Given the description of an element on the screen output the (x, y) to click on. 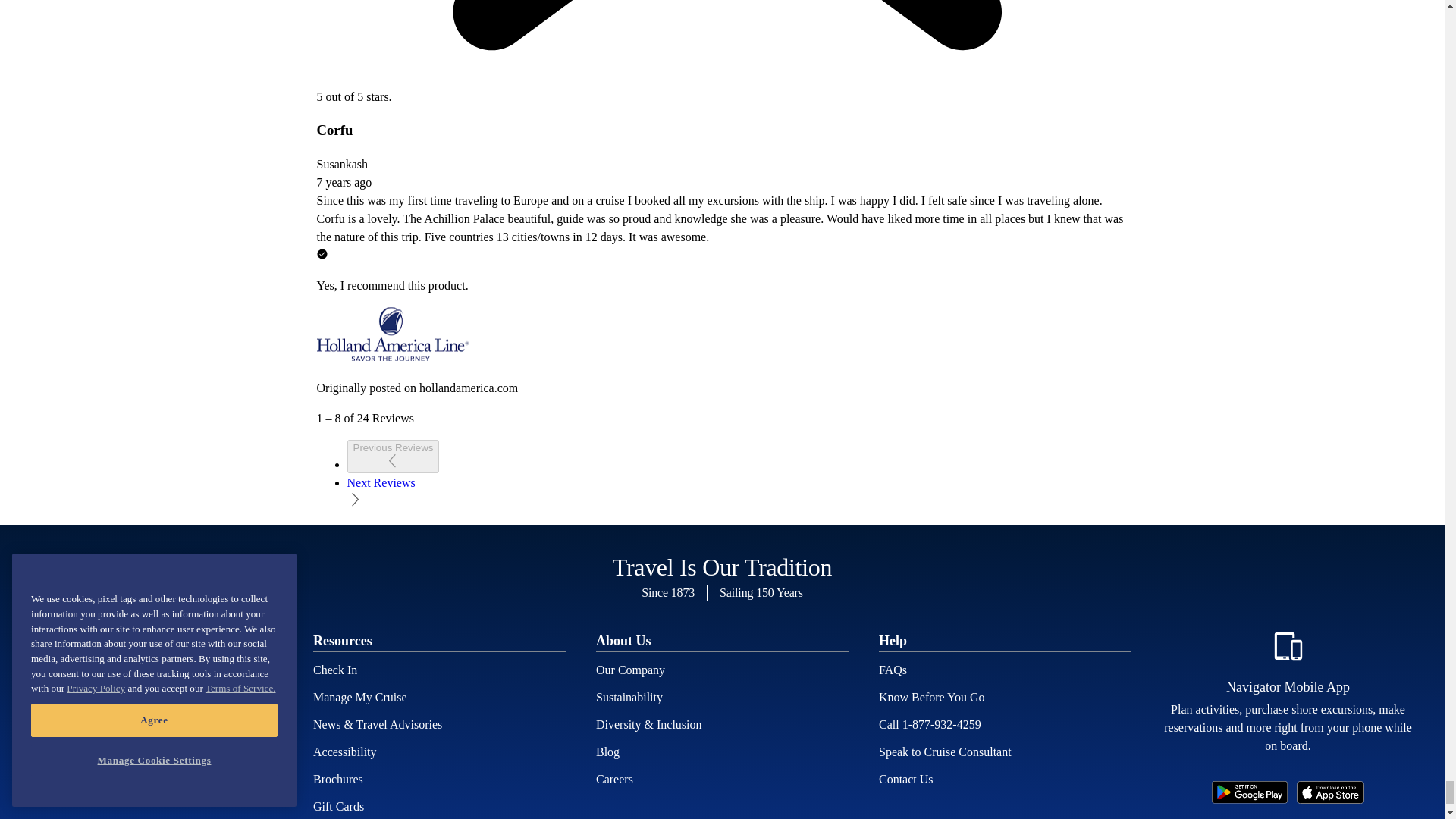
White icon devices (1287, 645)
Apple Store Button (1330, 792)
Google Play button (1249, 792)
